Given the description of an element on the screen output the (x, y) to click on. 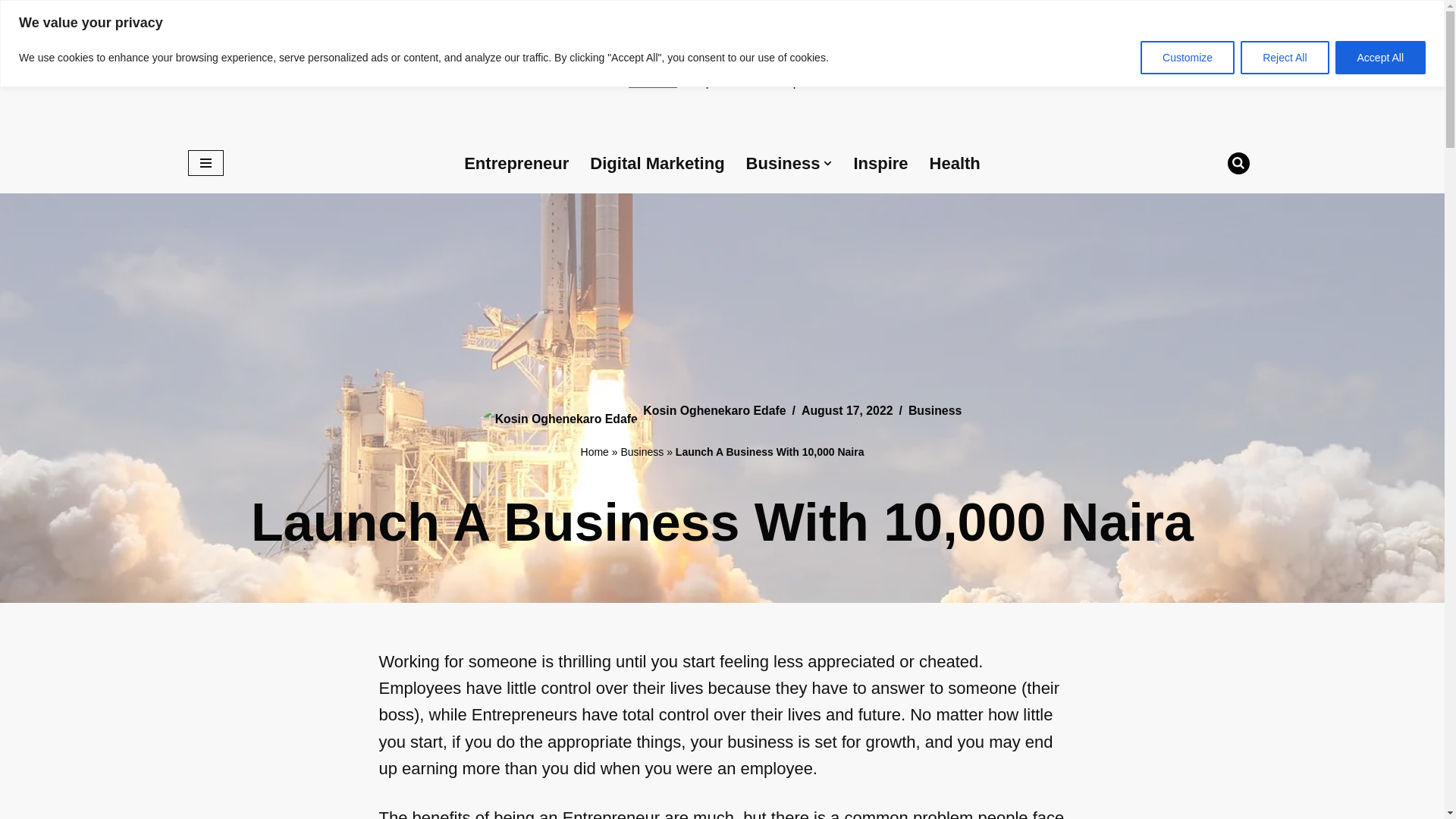
Skip to content (11, 31)
Navigation Menu (205, 162)
Customize (1187, 57)
Entrepreneur (721, 66)
Inspire (516, 162)
Business (880, 162)
Reject All (783, 162)
Accept All (1283, 57)
Posts by Kosin Oghenekaro Edafe (1380, 57)
